Given the description of an element on the screen output the (x, y) to click on. 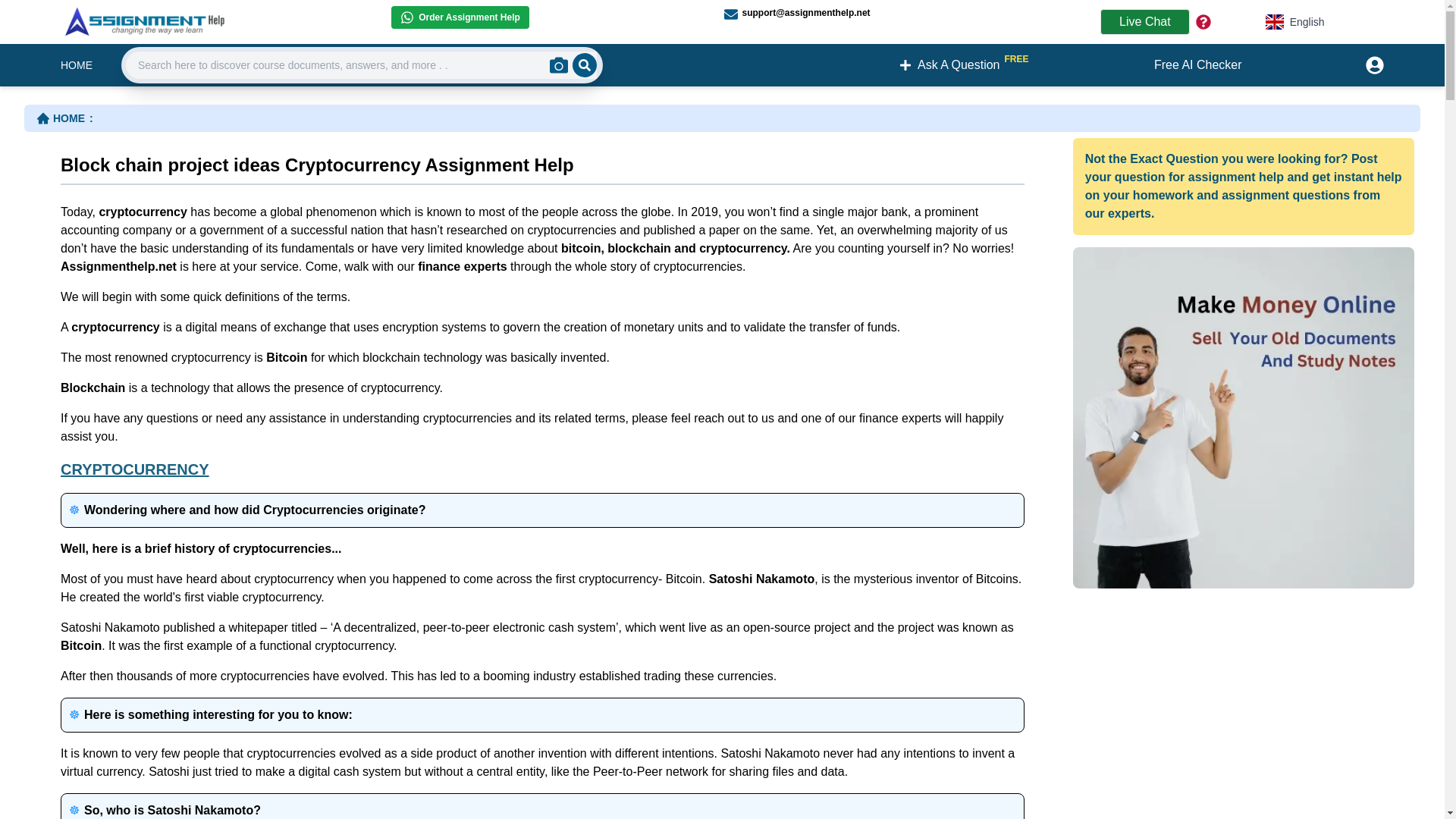
Menu (66, 118)
Userpanel (1203, 21)
Search (1371, 65)
Order Assignment Help (584, 64)
Free AI Checker (460, 16)
English (1197, 65)
HOME (1294, 22)
